Given the description of an element on the screen output the (x, y) to click on. 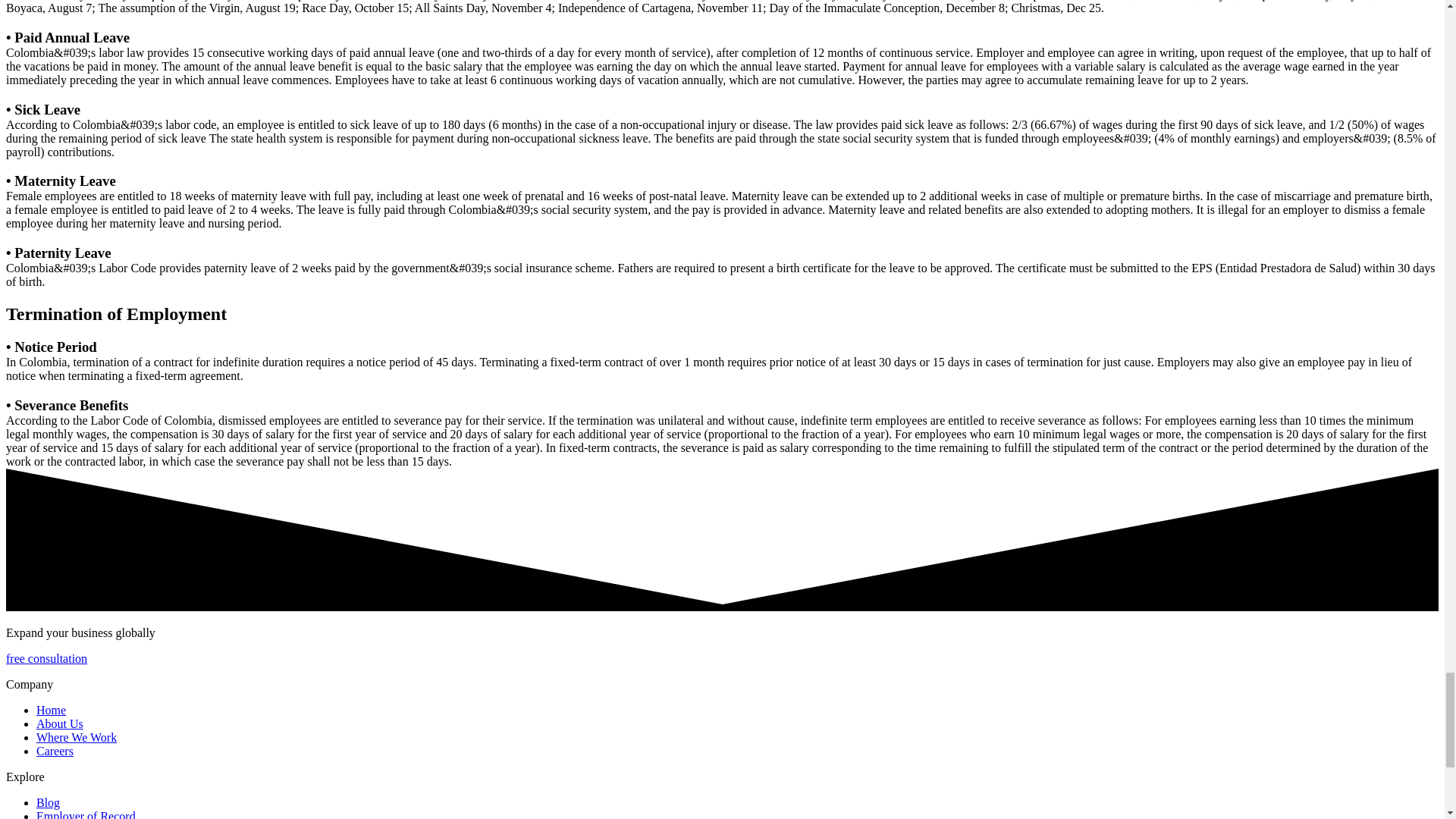
Blog (47, 802)
Careers (55, 750)
free consultation (46, 658)
Employer of Record (85, 814)
About Us (59, 723)
Where We Work (76, 737)
Home (50, 709)
